Given the description of an element on the screen output the (x, y) to click on. 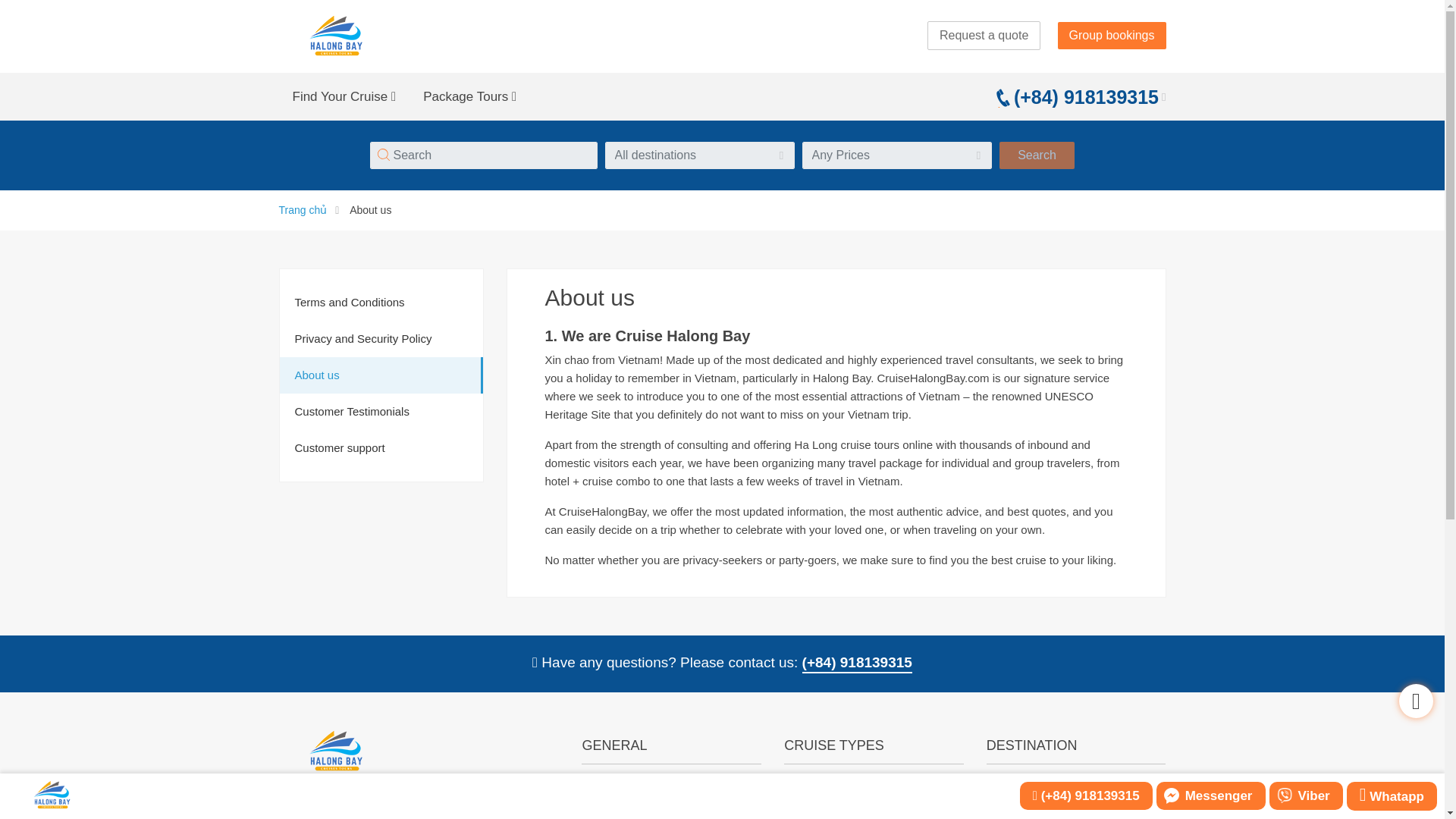
Terms and Conditions (635, 788)
5-star cruises (817, 788)
Privacy and Security Policy (649, 816)
Ha Long Bay (1019, 788)
5-star cruises (817, 788)
Customer Testimonials (380, 411)
New cruise ships (826, 816)
Lan Ha Bay (1016, 816)
Customer support (380, 447)
Ha Long Bay (1019, 788)
